Given the description of an element on the screen output the (x, y) to click on. 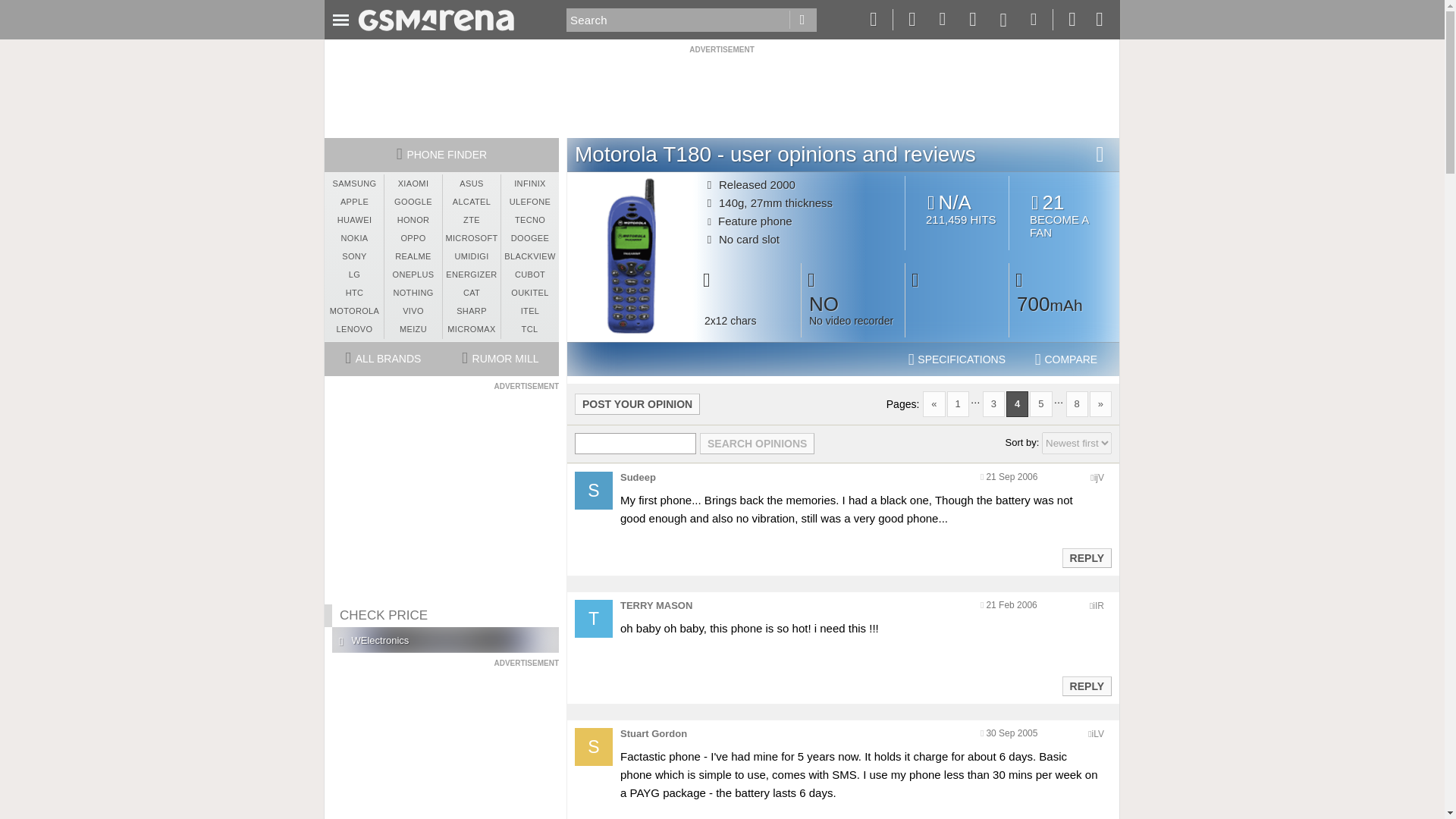
Encoded anonymized location (1097, 733)
Encoded anonymized location (1064, 214)
POST YOUR OPINION (1098, 477)
Encoded anonymized location (637, 403)
Reply to this post (1098, 605)
SPECIFICATIONS (1086, 686)
Go (957, 359)
Reply to this post (802, 19)
